Given the description of an element on the screen output the (x, y) to click on. 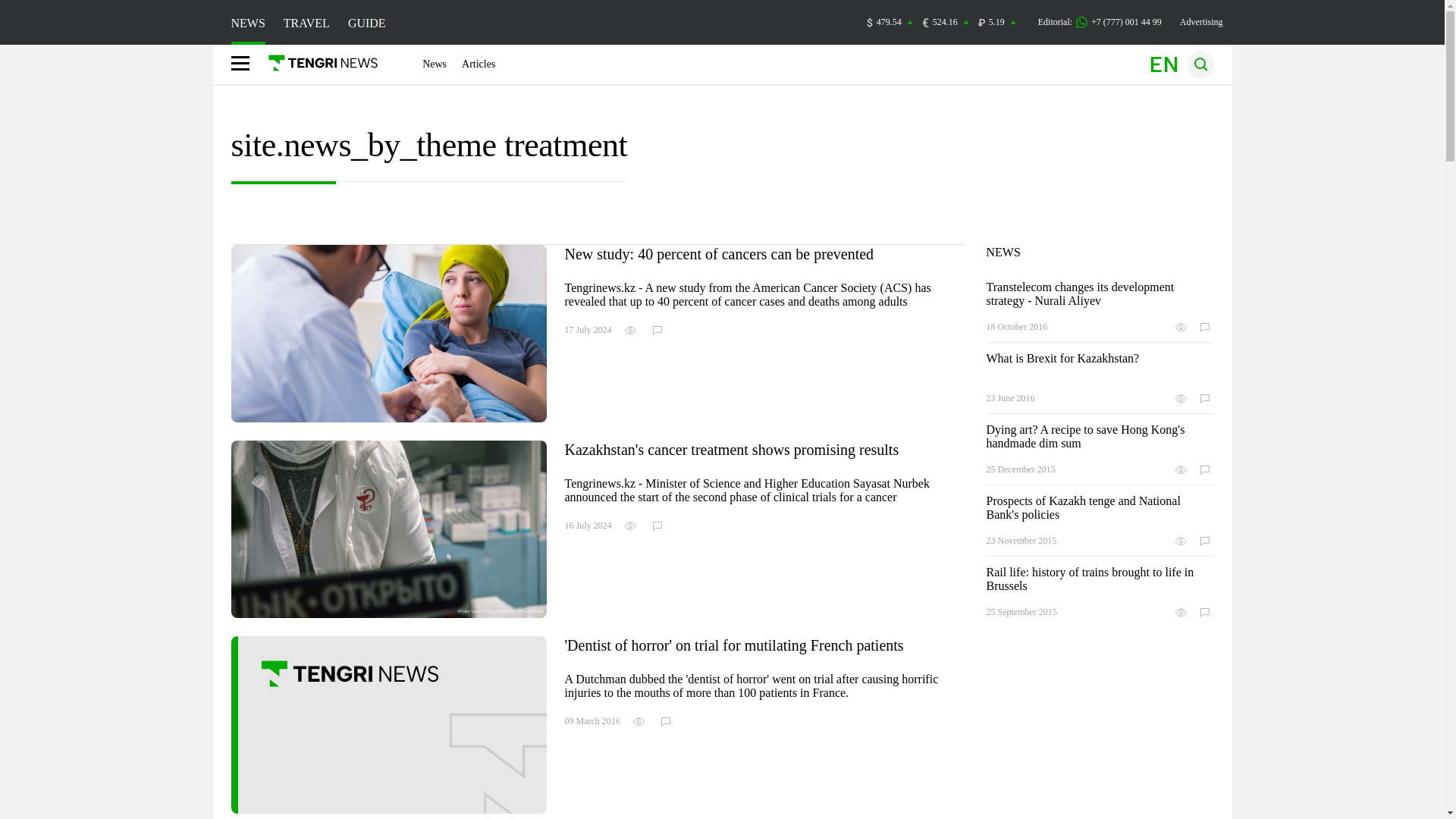
TRAVEL (306, 22)
News (434, 64)
Advertising (1201, 21)
Articles (478, 64)
